Given the description of an element on the screen output the (x, y) to click on. 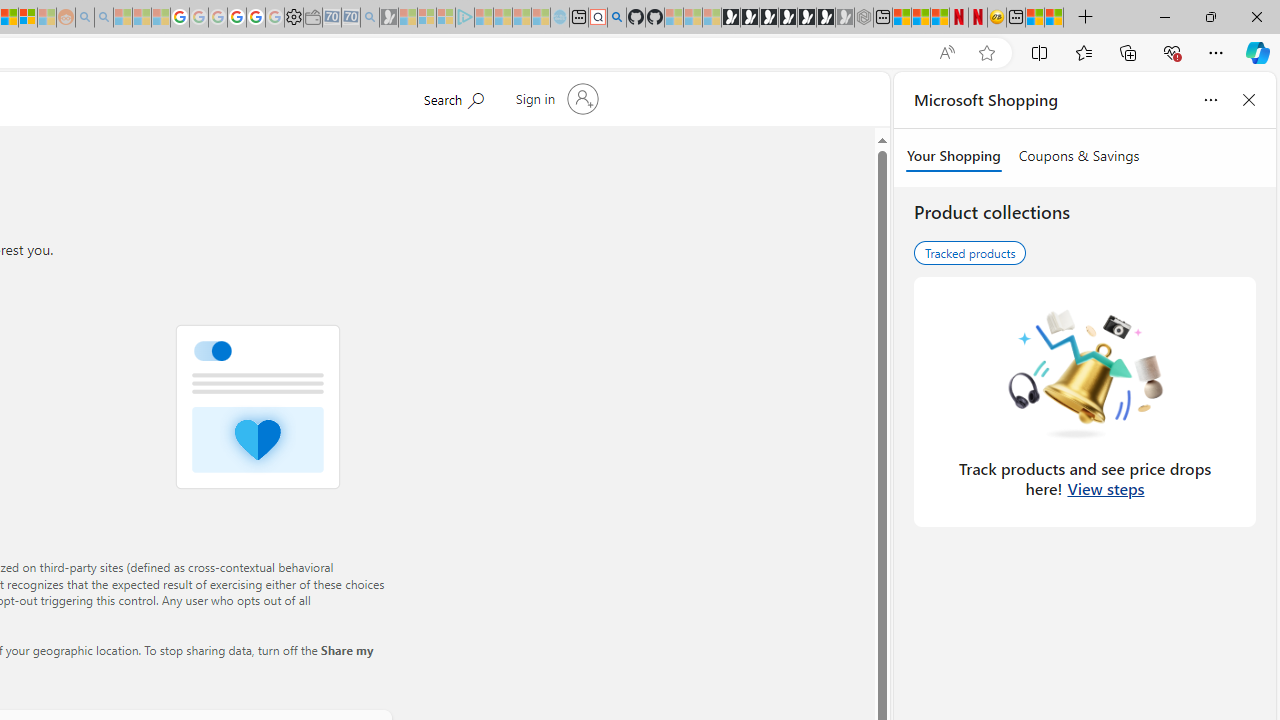
Sign in to your account (554, 98)
